Given the description of an element on the screen output the (x, y) to click on. 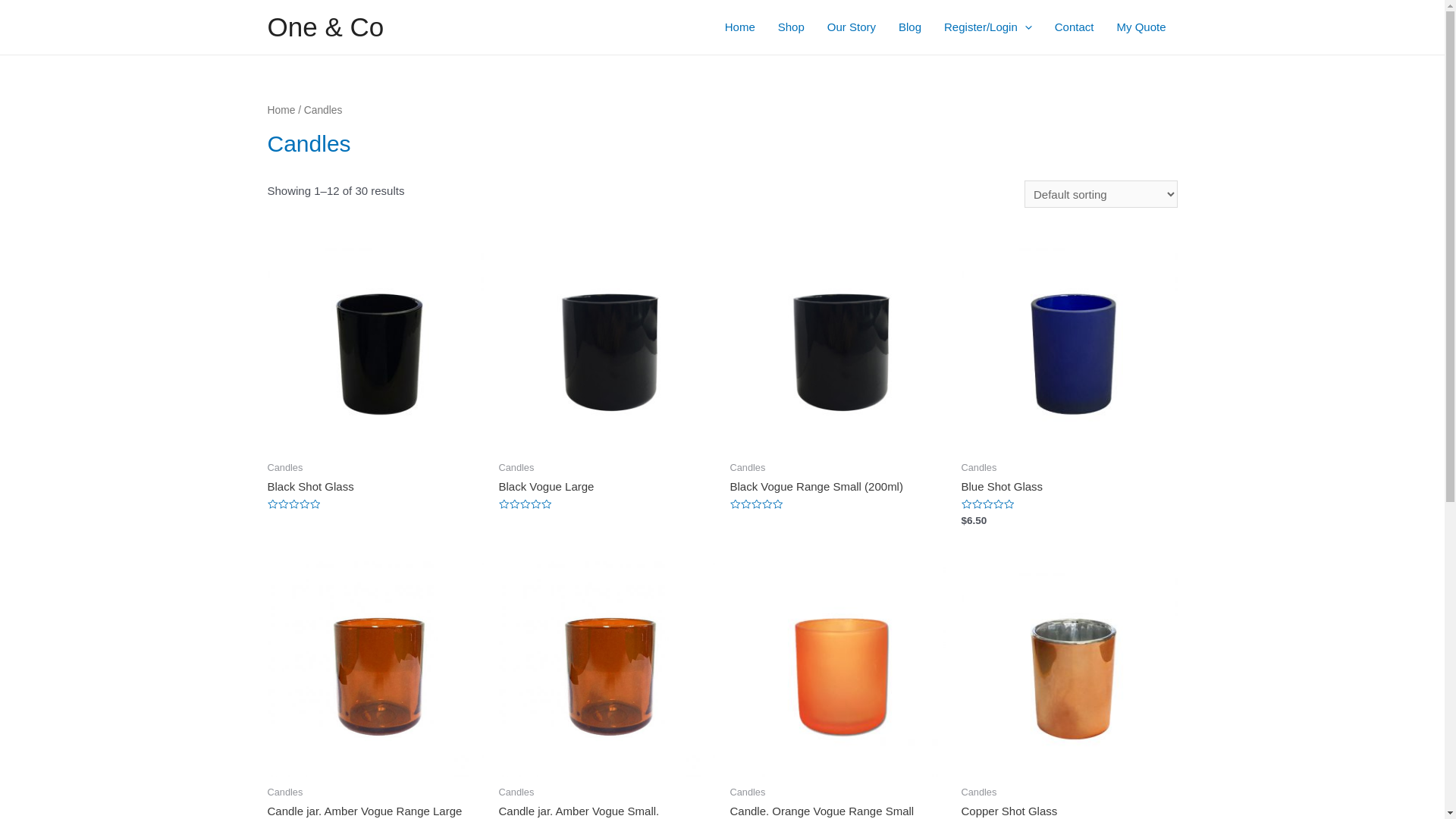
Home Element type: text (280, 110)
Home Element type: text (739, 26)
Register/Login Element type: text (987, 26)
Black Shot Glass Element type: text (374, 486)
Black Vogue Range Small (200ml) Element type: text (837, 486)
Shop Element type: text (790, 26)
Blog Element type: text (909, 26)
Our Story Element type: text (851, 26)
One & Co Element type: text (324, 26)
Contact Element type: text (1074, 26)
Black Vogue Large Element type: text (606, 486)
My Quote Element type: text (1140, 26)
Blue Shot Glass Element type: text (1069, 486)
